Given the description of an element on the screen output the (x, y) to click on. 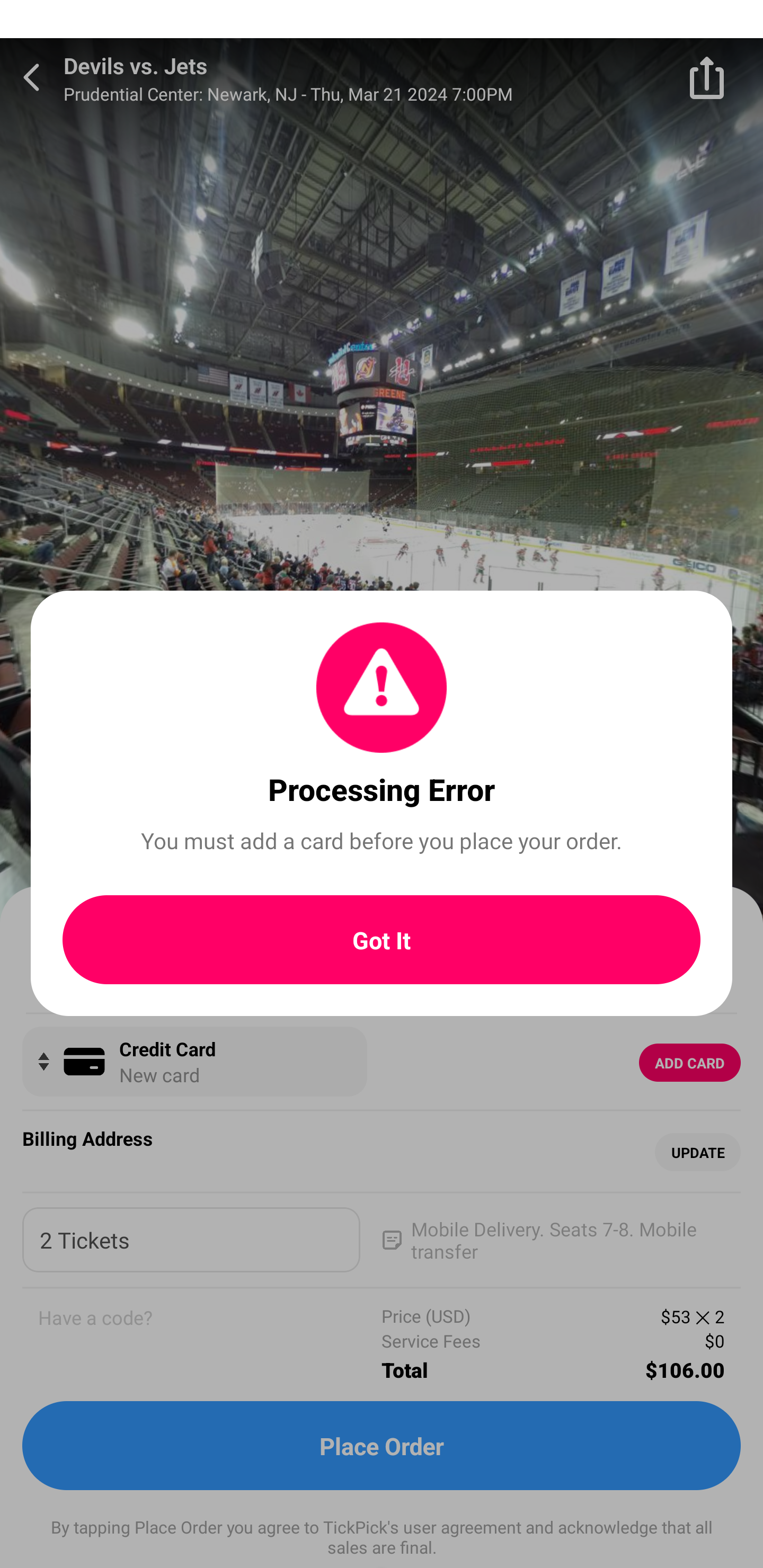
Got It (381, 939)
